Given the description of an element on the screen output the (x, y) to click on. 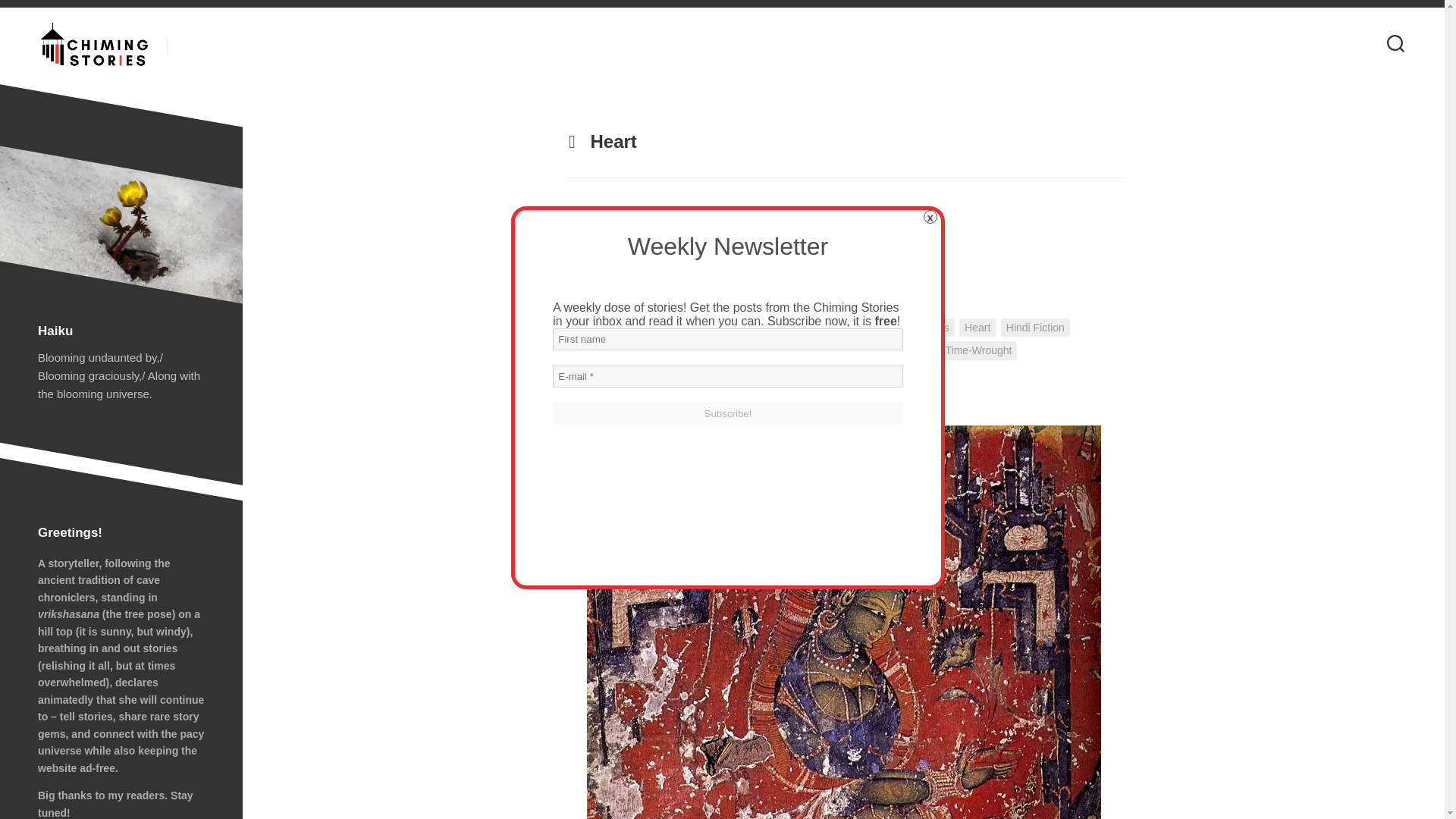
Known Face (650, 350)
Eyes (937, 327)
Heart (977, 327)
Shroud (911, 350)
Subscribe! (727, 413)
Old Tidings (784, 350)
Time-Wrought (978, 350)
Bhikshuni (650, 278)
Posts by Jagriti Rumi (755, 327)
Bhikshuni (824, 327)
Journey (586, 350)
Buddhism (886, 327)
Short Story (853, 350)
Memories (719, 350)
Hindi Fiction (1035, 327)
